Given the description of an element on the screen output the (x, y) to click on. 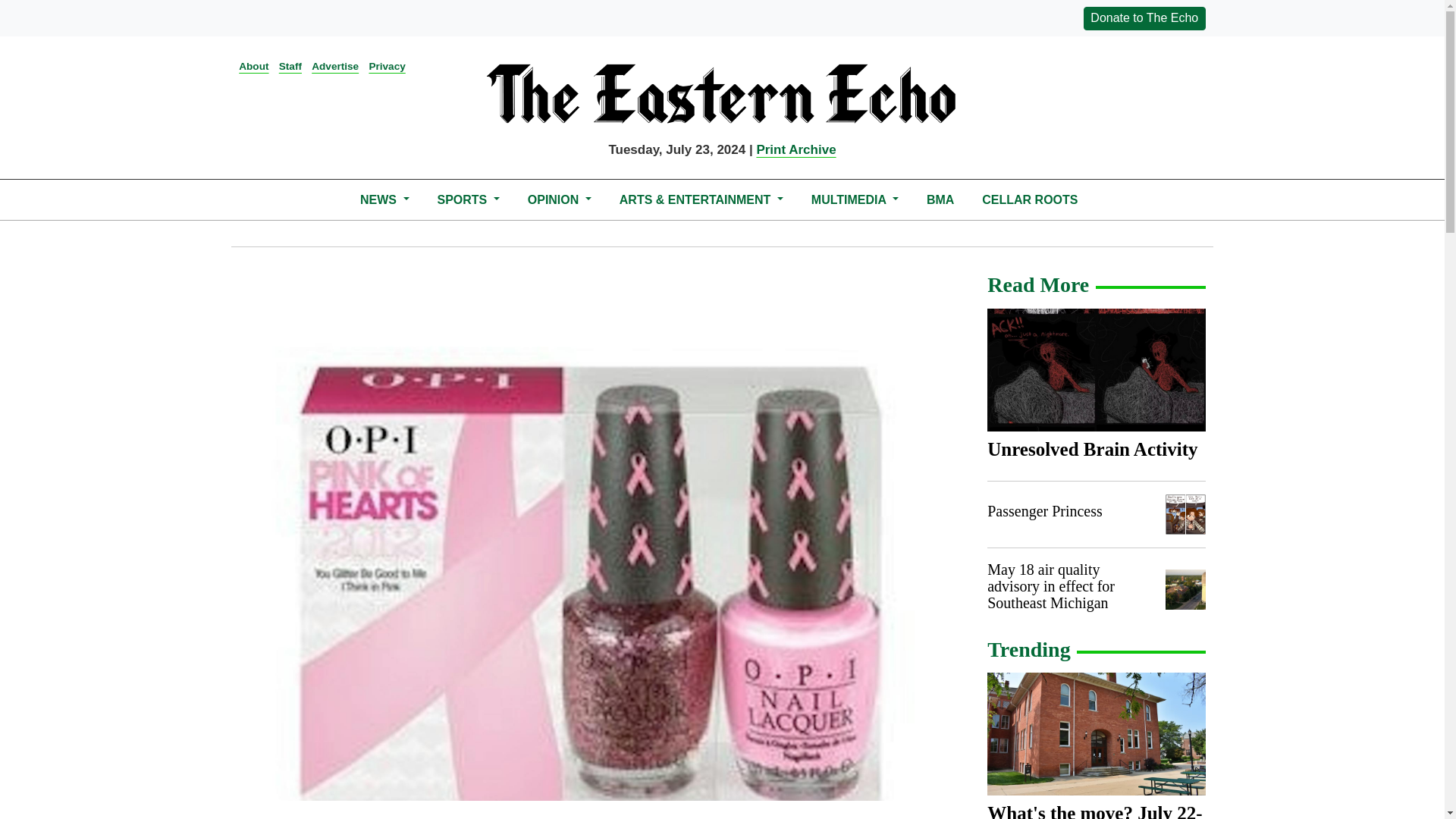
About (252, 66)
Donate to The Echo (1144, 17)
Staff (290, 66)
Unresolved Brain Activity (1096, 369)
Passenger Princess (1044, 510)
MULTIMEDIA (854, 199)
BMA (939, 199)
What's the move? July 22-28 (1096, 733)
Unresolved Brain Activity (1091, 448)
NEWS (383, 199)
Advertise (334, 66)
May 18 air quality advisory in effect for Southeast Michigan (1051, 586)
What's the move? July 22-28 (1094, 811)
Cellar Roots (1029, 199)
Print Archive (795, 149)
